Given the description of an element on the screen output the (x, y) to click on. 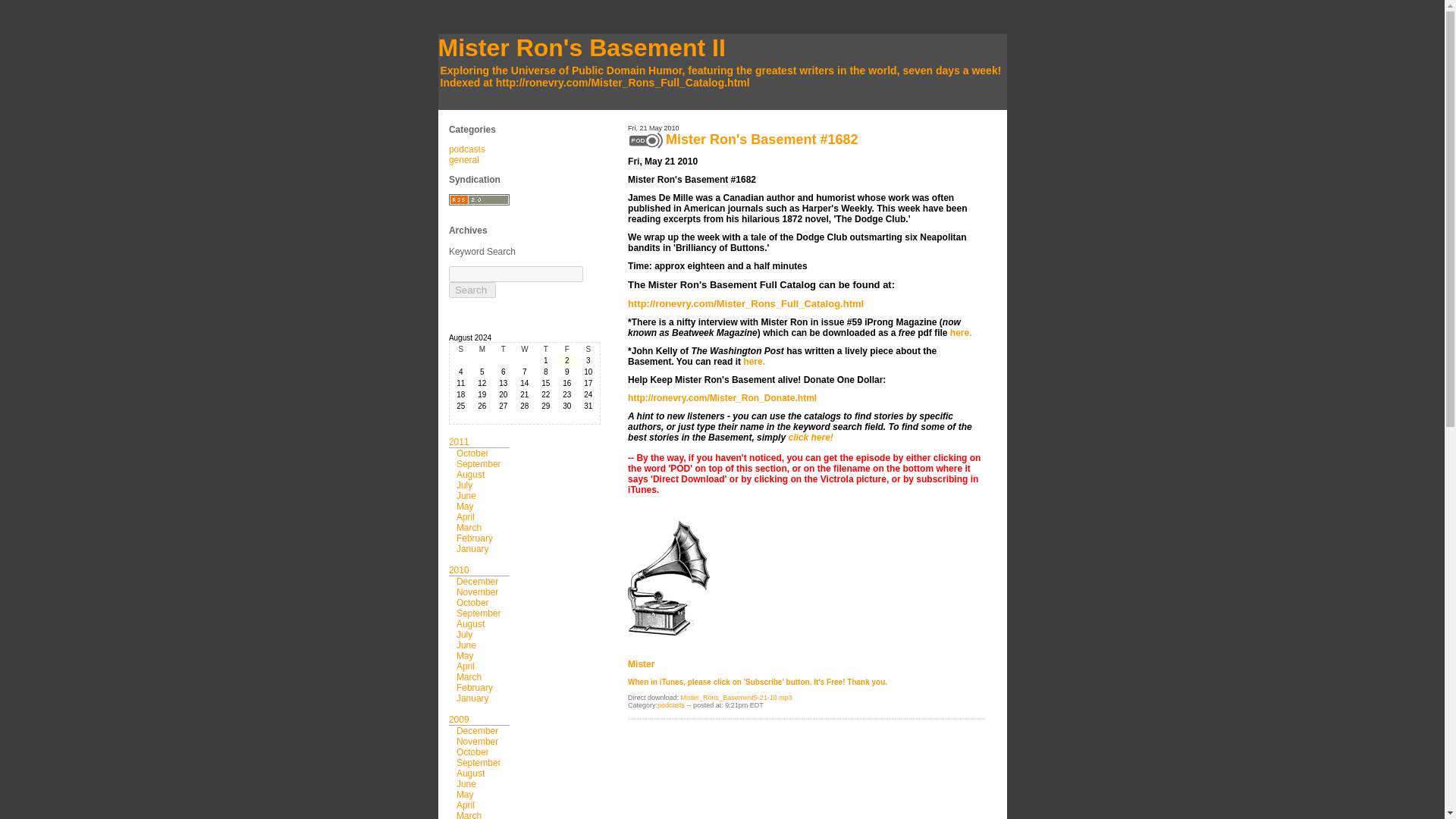
April (465, 516)
podcasts (466, 149)
December (477, 581)
March (469, 676)
June (466, 783)
June (466, 644)
March (469, 814)
August (470, 624)
September (478, 463)
May (465, 655)
January (473, 697)
September (478, 762)
Friday (566, 348)
Thursday (545, 348)
January (473, 548)
